Given the description of an element on the screen output the (x, y) to click on. 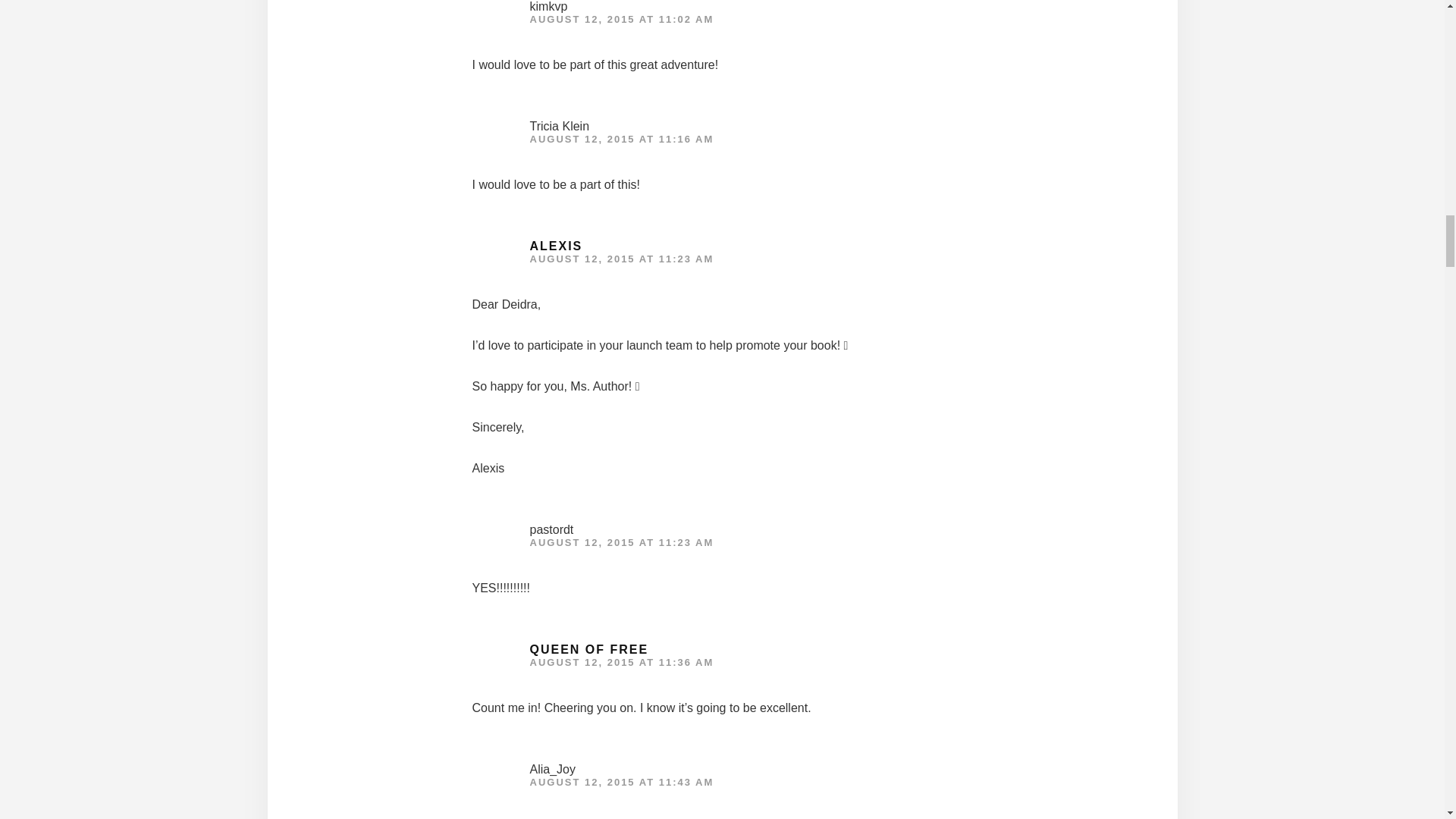
AUGUST 12, 2015 AT 11:02 AM (621, 19)
